Given the description of an element on the screen output the (x, y) to click on. 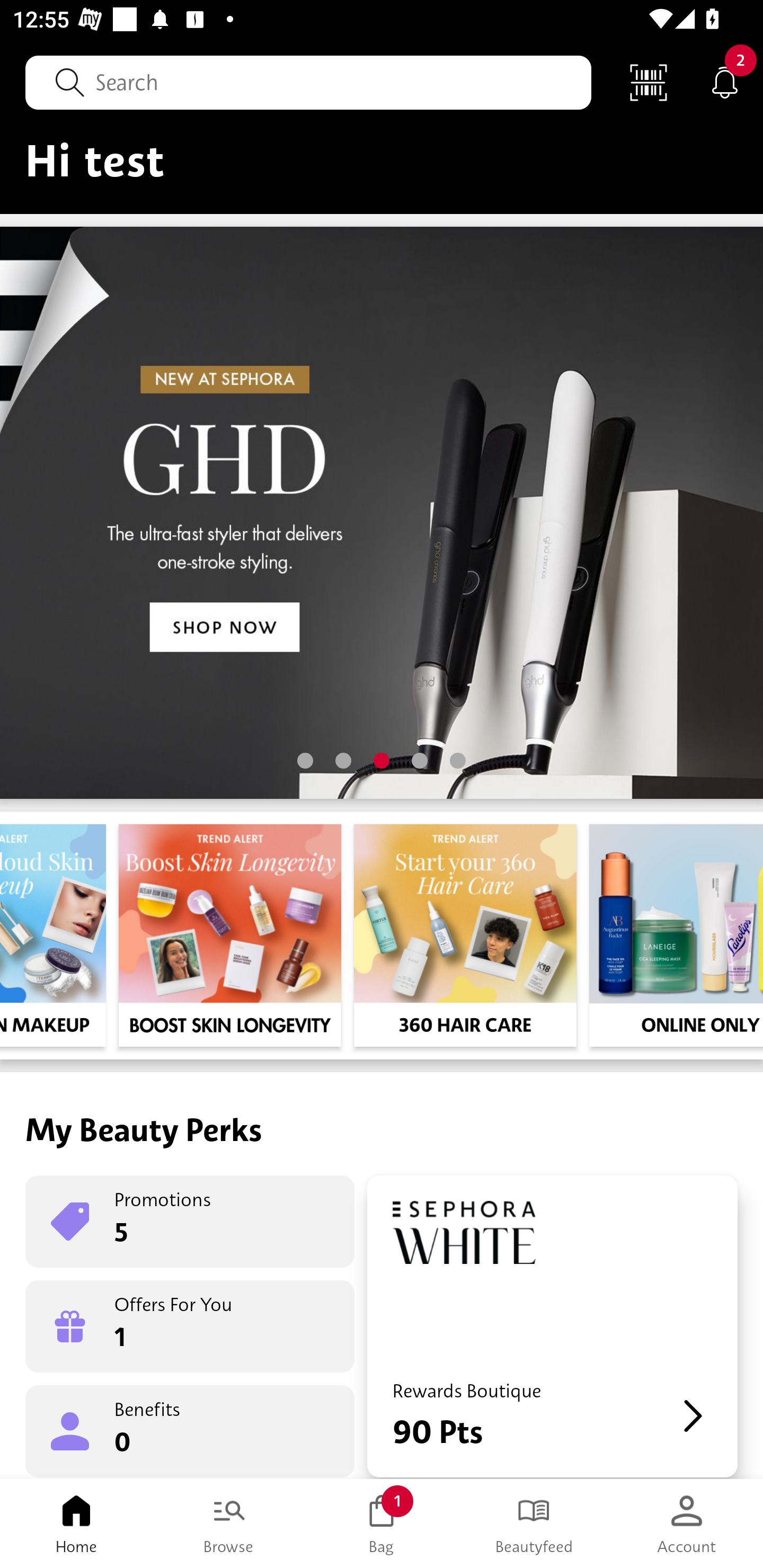
Scan Code (648, 81)
Notifications (724, 81)
Search (308, 81)
Promotions 5 (189, 1221)
Rewards Boutique 90 Pts (552, 1326)
Offers For You 1 (189, 1326)
Benefits 0 (189, 1430)
Browse (228, 1523)
Bag 1 Bag (381, 1523)
Beautyfeed (533, 1523)
Account (686, 1523)
